Given the description of an element on the screen output the (x, y) to click on. 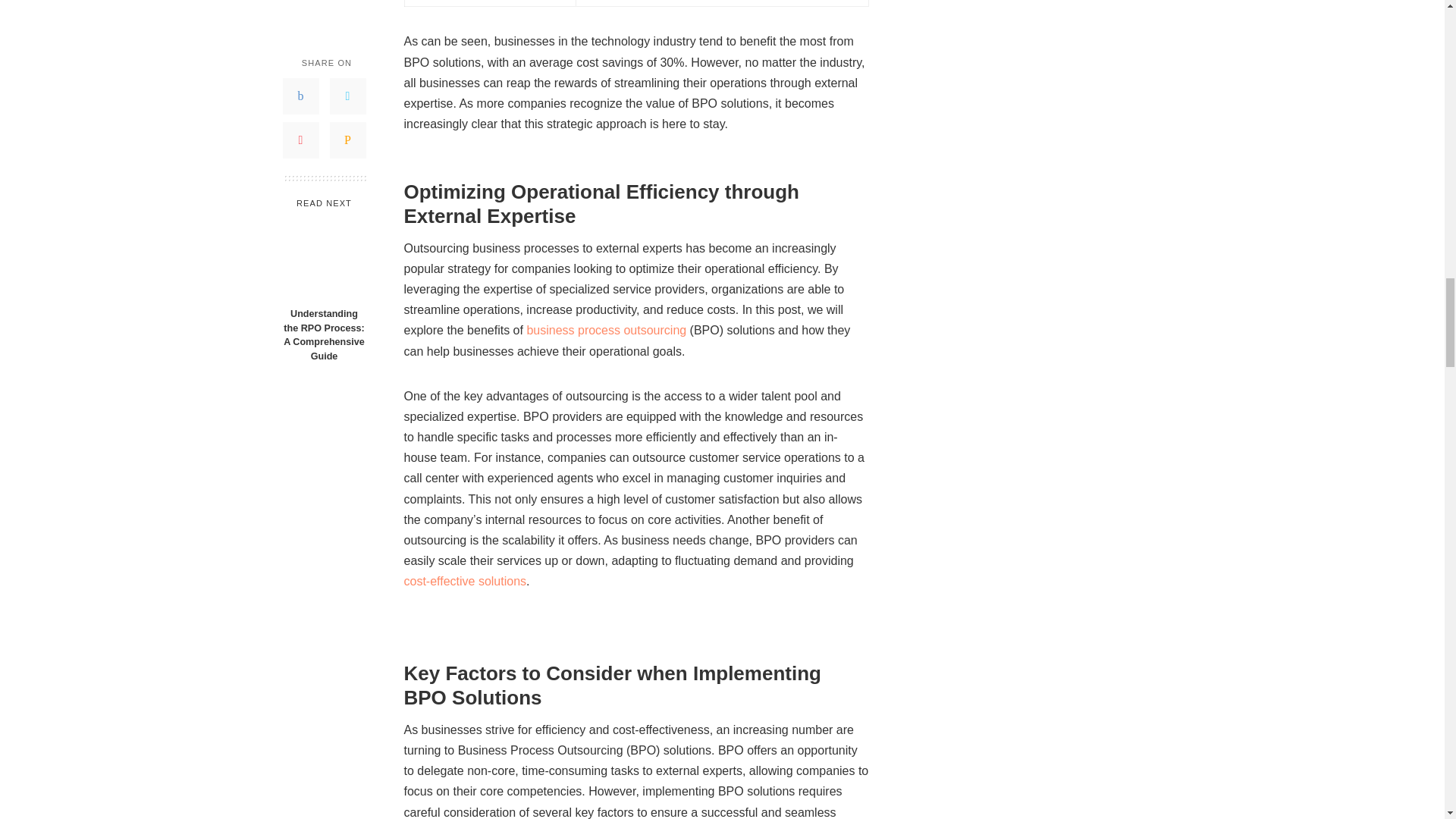
cost-effective solutions (464, 581)
business process outsourcing (605, 329)
